Given the description of an element on the screen output the (x, y) to click on. 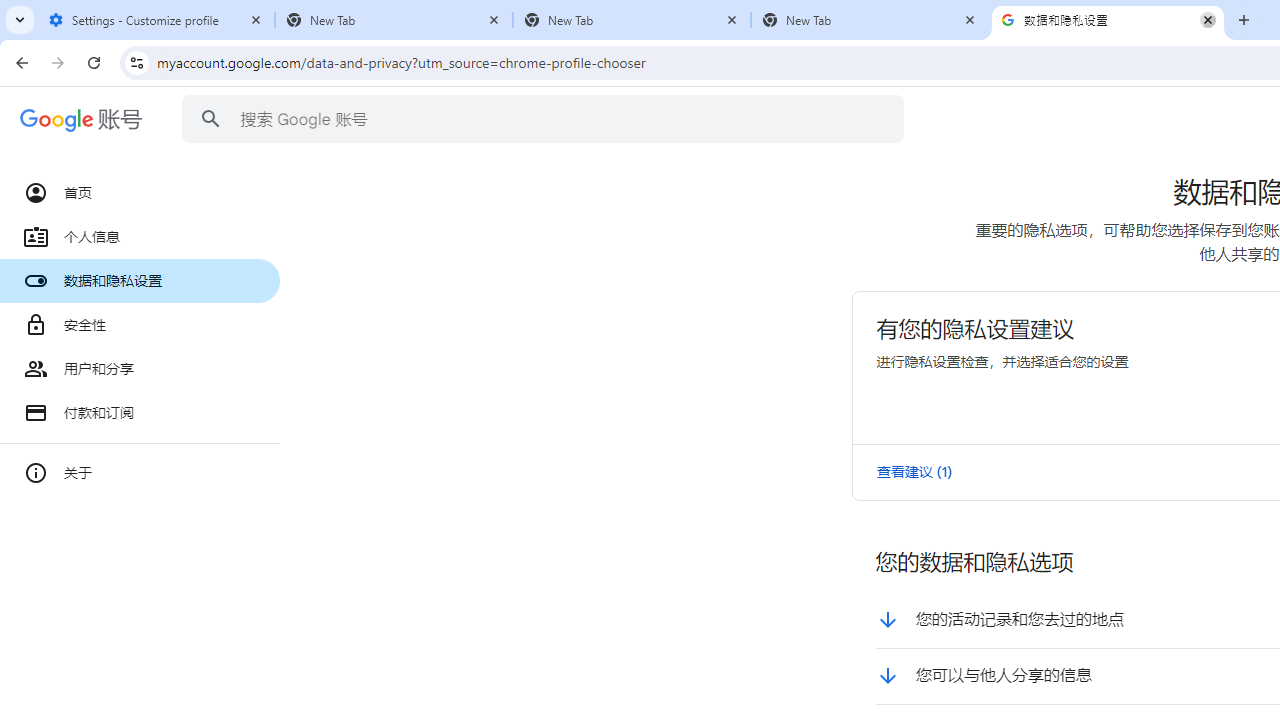
New Tab (632, 20)
New Tab (394, 20)
New Tab (870, 20)
Settings - Customize profile (156, 20)
More actions for Sign in shortcut (1208, 464)
